Given the description of an element on the screen output the (x, y) to click on. 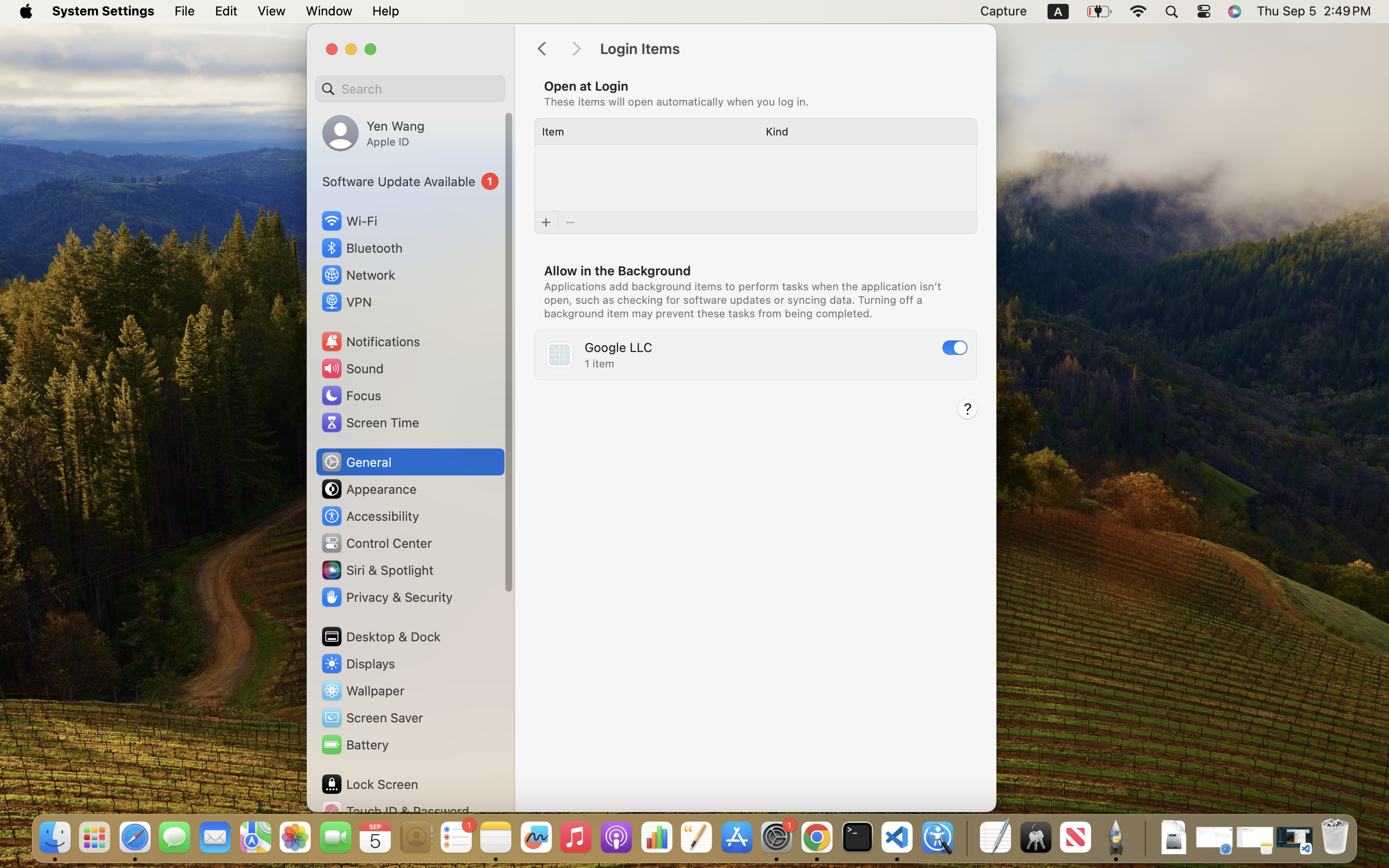
Network Element type: AXStaticText (357, 274)
Sound Element type: AXStaticText (351, 367)
Login Items Element type: AXStaticText (788, 49)
VPN Element type: AXStaticText (345, 301)
Privacy & Security Element type: AXStaticText (386, 596)
